Given the description of an element on the screen output the (x, y) to click on. 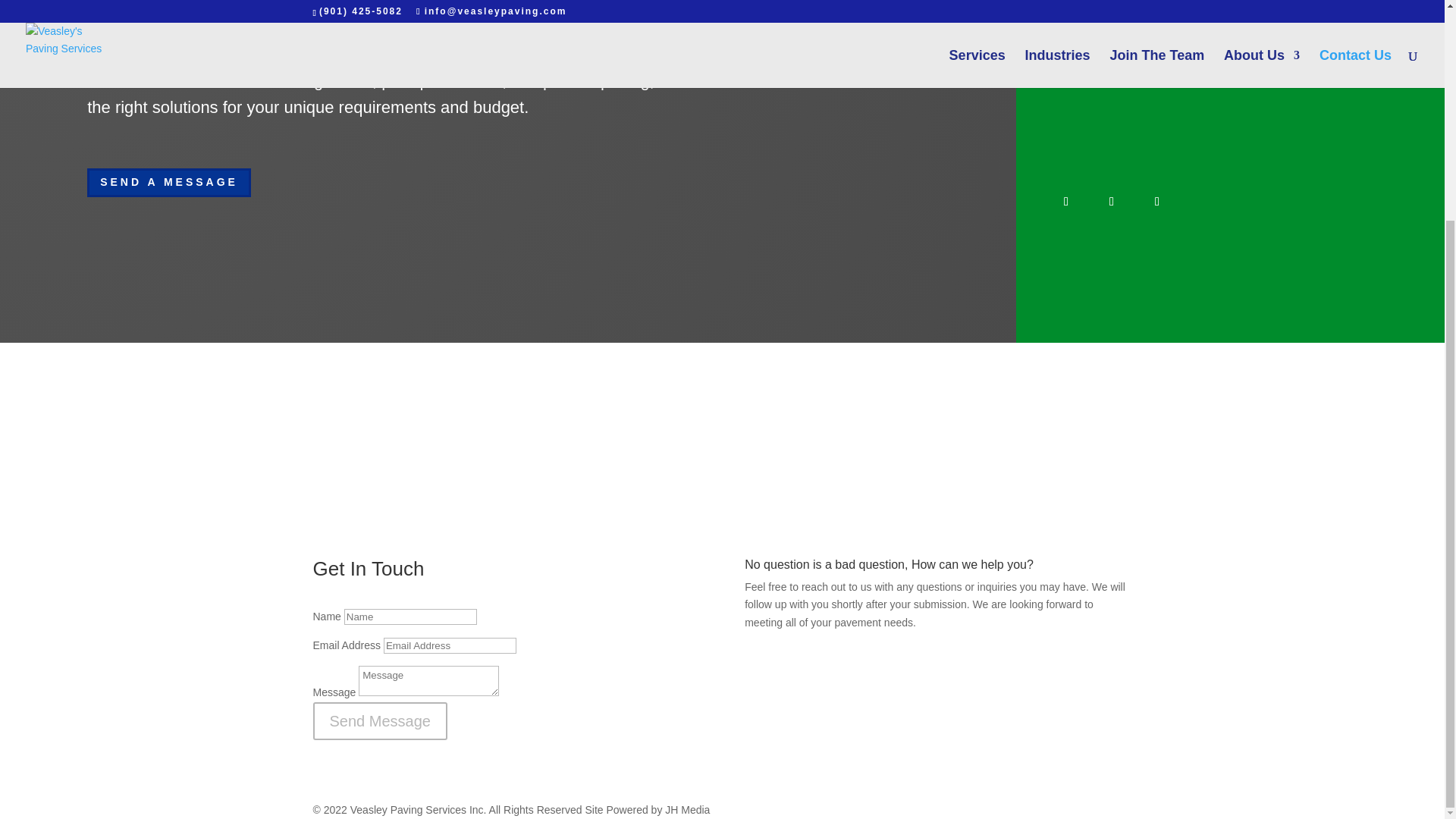
SEND A MESSAGE (168, 182)
Follow on Facebook (1066, 201)
Follow on LinkedIn (1156, 201)
Follow on Twitter (1111, 201)
Send Message (379, 720)
